Given the description of an element on the screen output the (x, y) to click on. 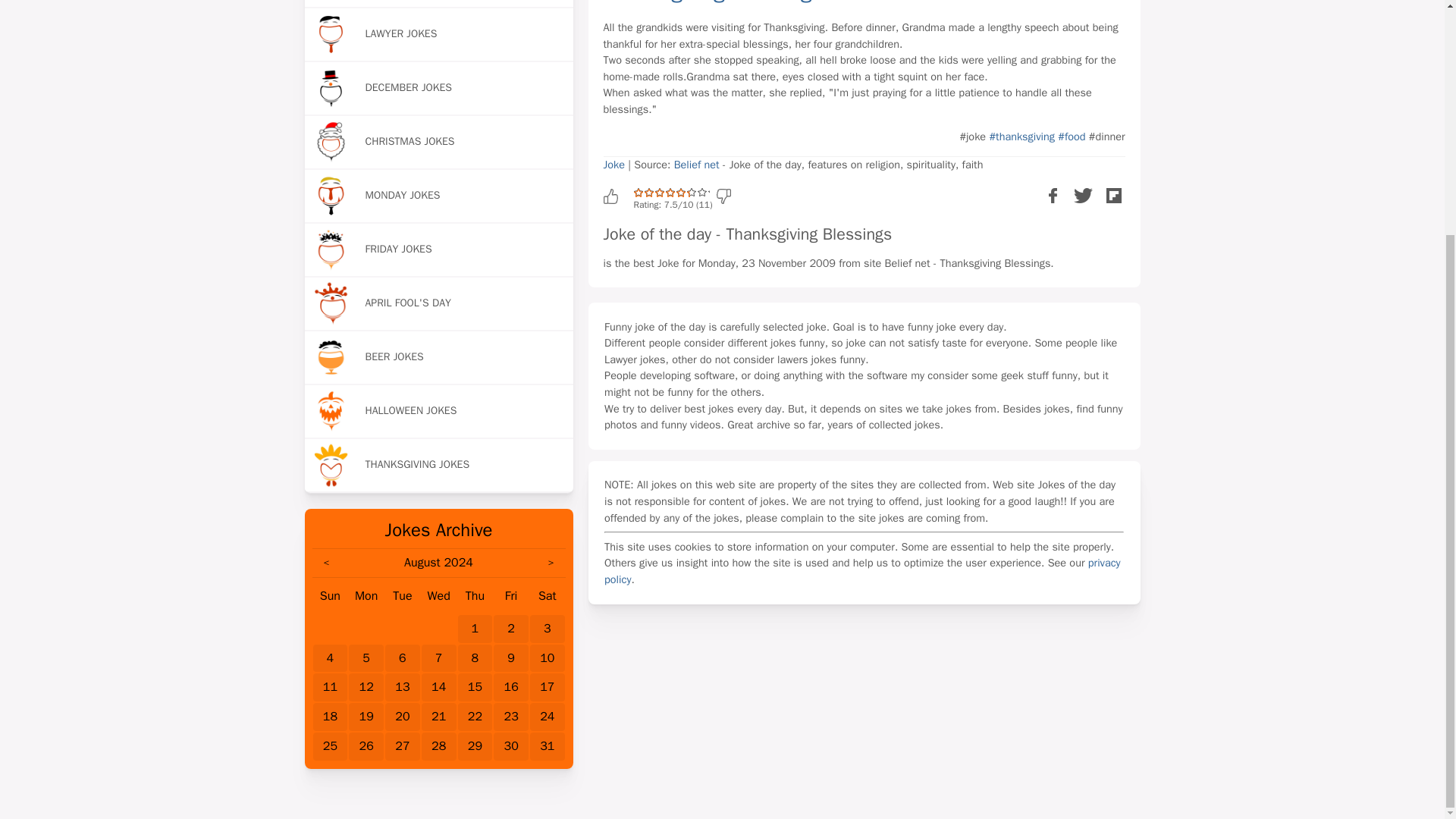
privacy policy (862, 571)
Joke (614, 164)
Belief net (696, 164)
